Given the description of an element on the screen output the (x, y) to click on. 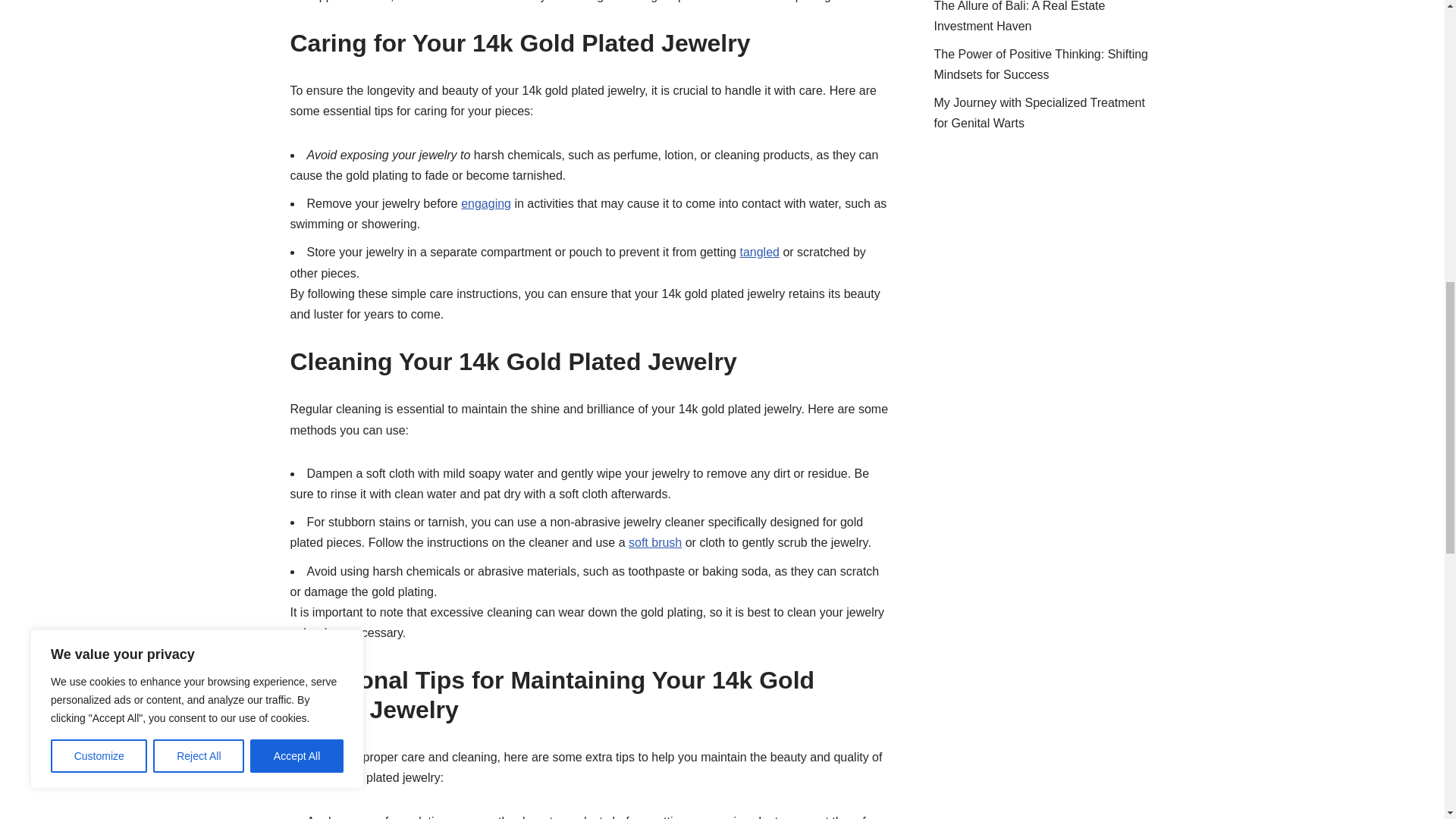
engaging (486, 203)
soft brush (654, 542)
tangled (758, 251)
